Given the description of an element on the screen output the (x, y) to click on. 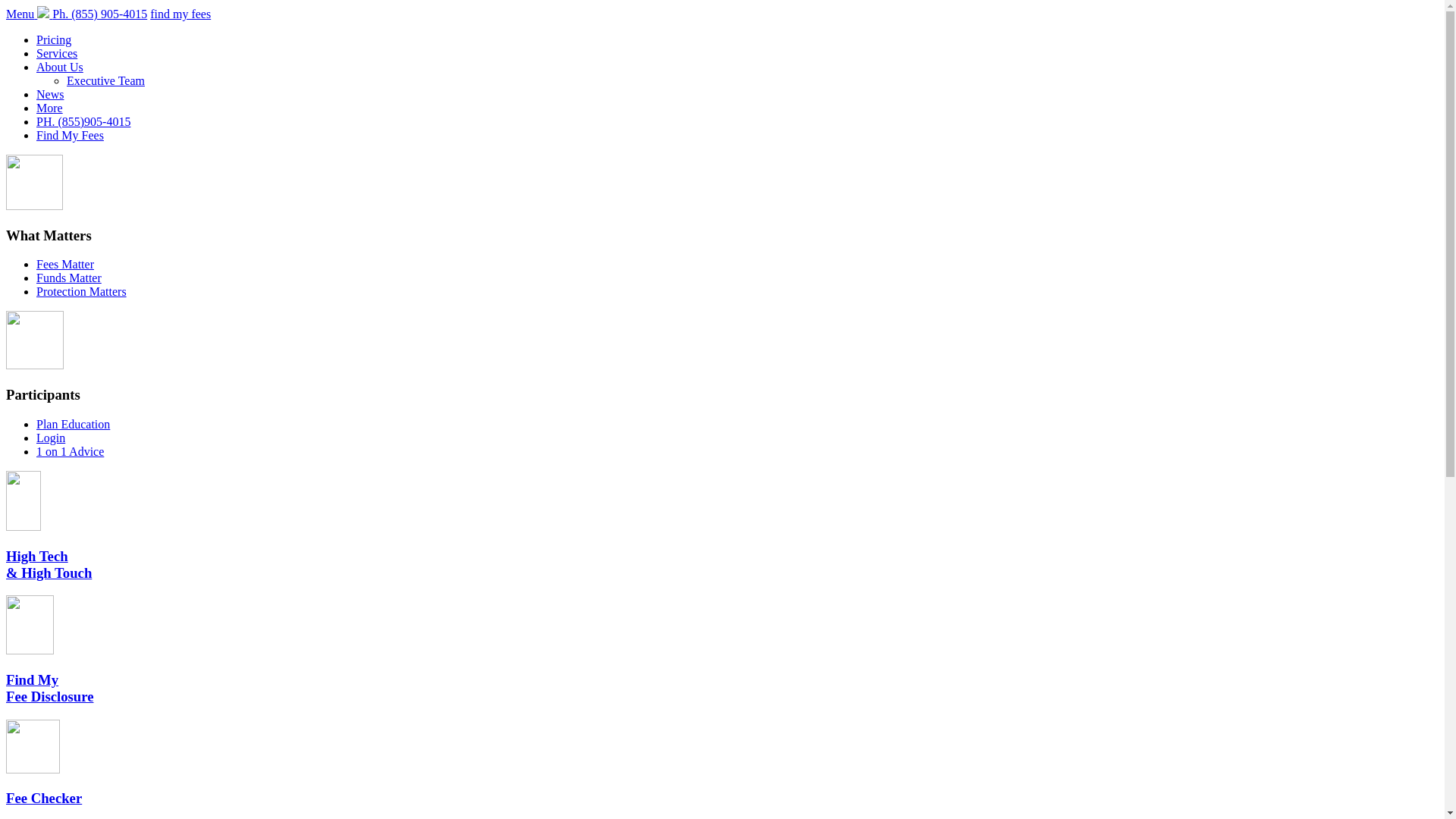
find my fees Element type: text (180, 13)
Find My
Fee Disclosure Element type: text (49, 687)
Menu Element type: text (21, 13)
High Tech
& High Touch Element type: text (48, 564)
More Element type: text (49, 107)
News Element type: text (49, 93)
Pricing Element type: text (53, 39)
PH. (855)905-4015 Element type: text (83, 121)
Fee Checker Element type: text (43, 798)
Funds Matter Element type: text (68, 277)
About Us Element type: text (59, 66)
Services Element type: text (56, 53)
1 on 1 Advice Element type: text (69, 451)
Ph. (855) 905-4015 Element type: text (99, 13)
Fees Matter Element type: text (65, 263)
Protection Matters Element type: text (81, 291)
Login Element type: text (50, 437)
Plan Education Element type: text (72, 423)
Find My Fees Element type: text (69, 134)
Executive Team Element type: text (105, 80)
